Given the description of an element on the screen output the (x, y) to click on. 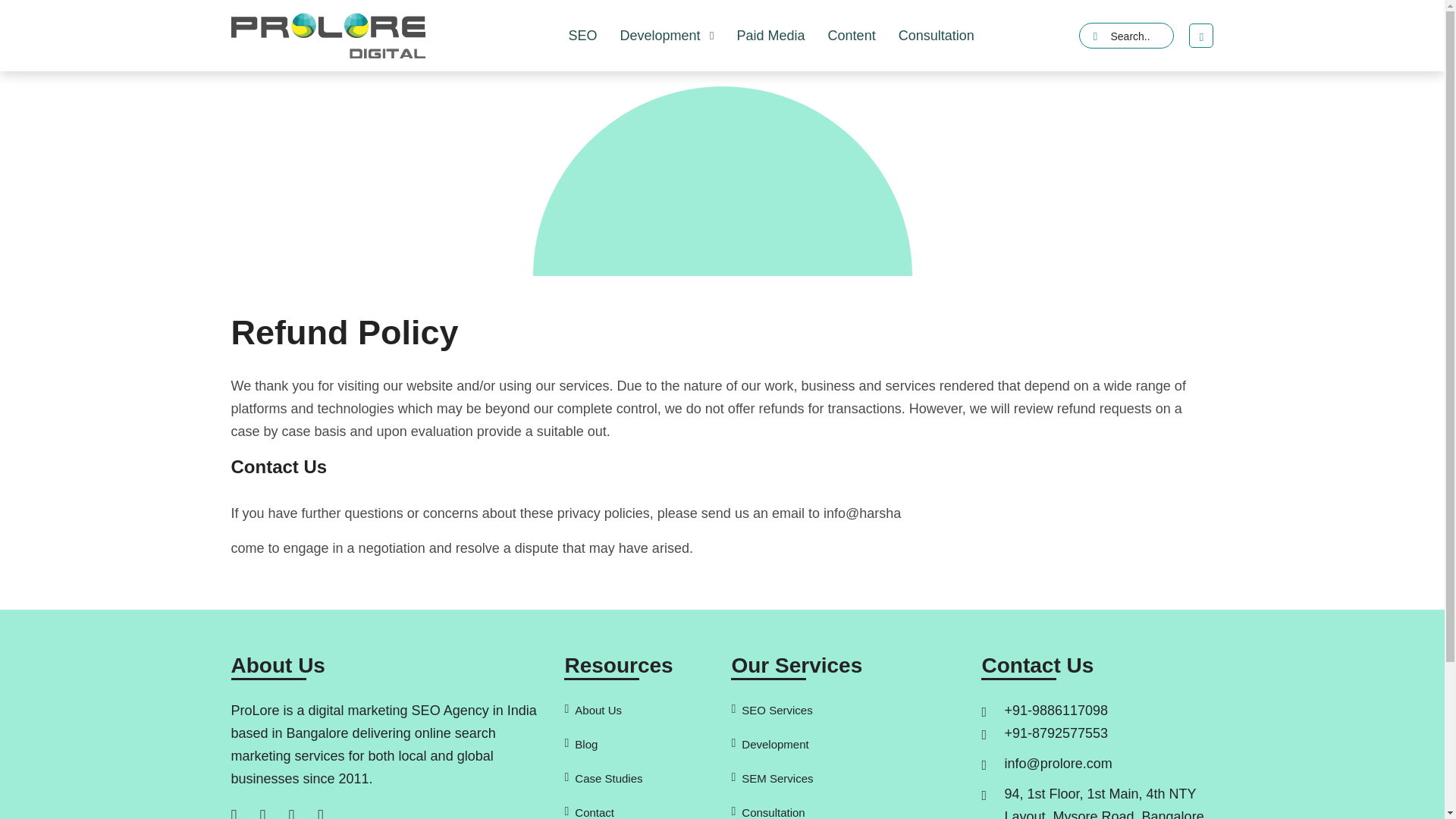
About Us (638, 710)
Paid Media (770, 35)
SEO Services (846, 710)
Development (846, 744)
SEM Services (846, 778)
Blog (638, 744)
Contact (638, 810)
Case Studies (638, 778)
Consultation (846, 810)
Development (666, 35)
